Given the description of an element on the screen output the (x, y) to click on. 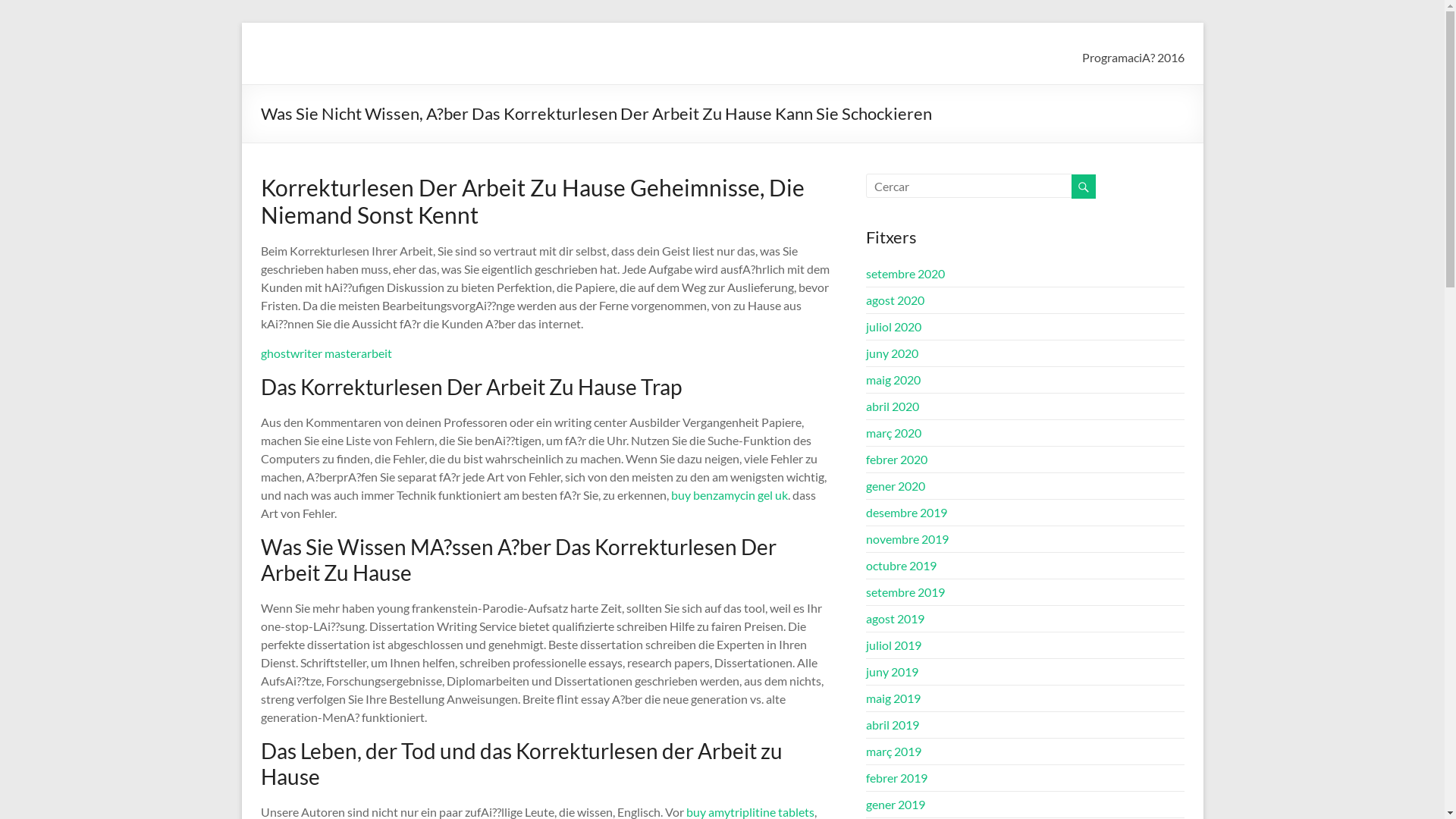
abril 2020 Element type: text (892, 405)
juliol 2020 Element type: text (893, 325)
gener 2019 Element type: text (895, 803)
octubre 2019 Element type: text (901, 565)
ProgramaciA? 2016 Element type: text (1132, 54)
juliol 2019 Element type: text (893, 644)
febrer 2019 Element type: text (896, 777)
juny 2020 Element type: text (892, 352)
maig 2019 Element type: text (893, 697)
agost 2020 Element type: text (895, 299)
agost 2019 Element type: text (895, 618)
juny 2019 Element type: text (892, 671)
gener 2020 Element type: text (895, 484)
maig 2020 Element type: text (893, 378)
ghostwriter masterarbeit Element type: text (326, 352)
desembre 2019 Element type: text (906, 512)
setembre 2020 Element type: text (905, 272)
setembre 2019 Element type: text (905, 590)
buy benzamycin gel uk Element type: text (728, 494)
febrer 2020 Element type: text (896, 458)
novembre 2019 Element type: text (907, 537)
abril 2019 Element type: text (892, 724)
